Given the description of an element on the screen output the (x, y) to click on. 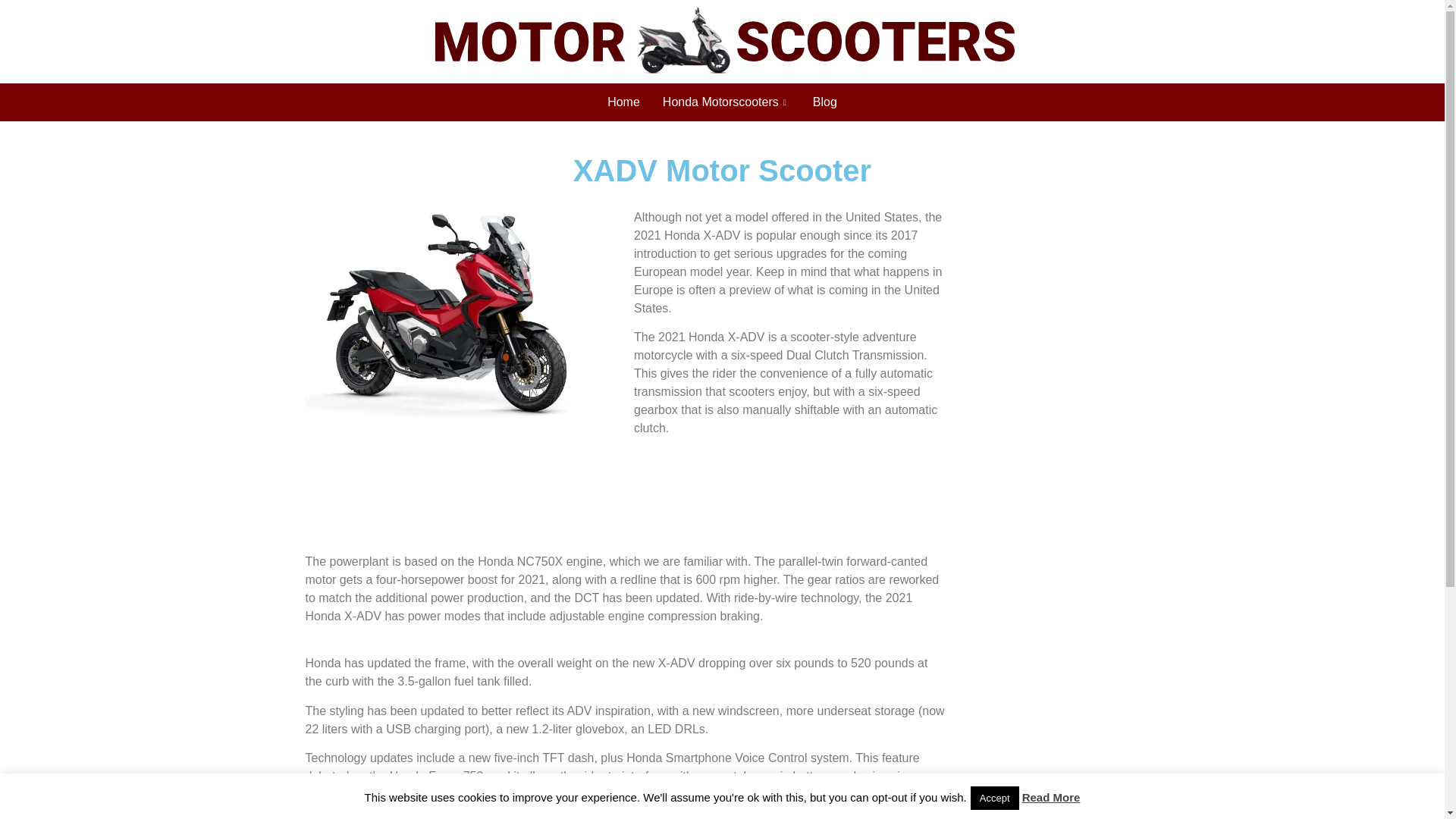
Honda Motorscooters (726, 102)
Advertisement (625, 498)
Home (622, 102)
